Given the description of an element on the screen output the (x, y) to click on. 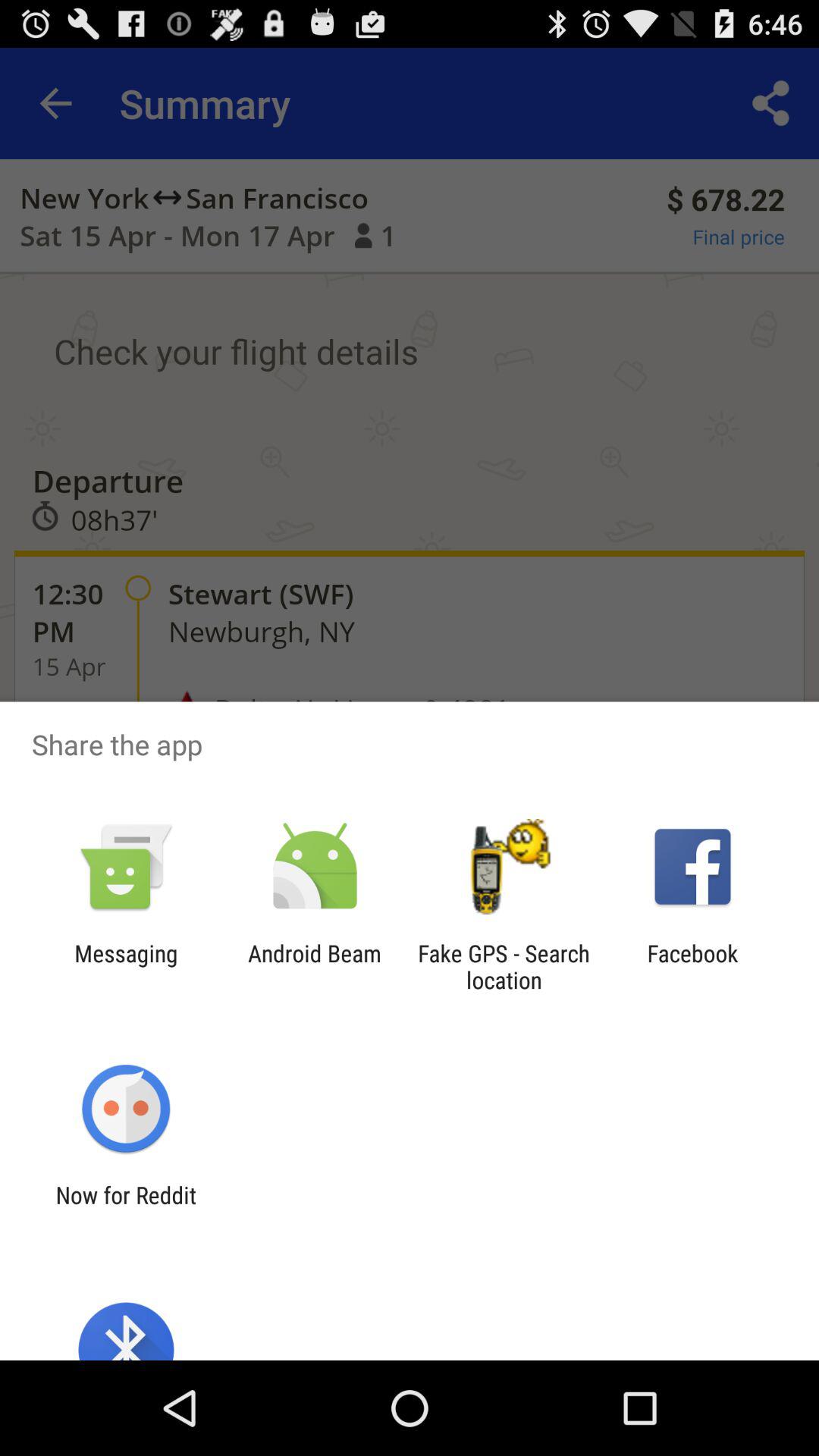
open the icon to the right of the messaging icon (314, 966)
